Given the description of an element on the screen output the (x, y) to click on. 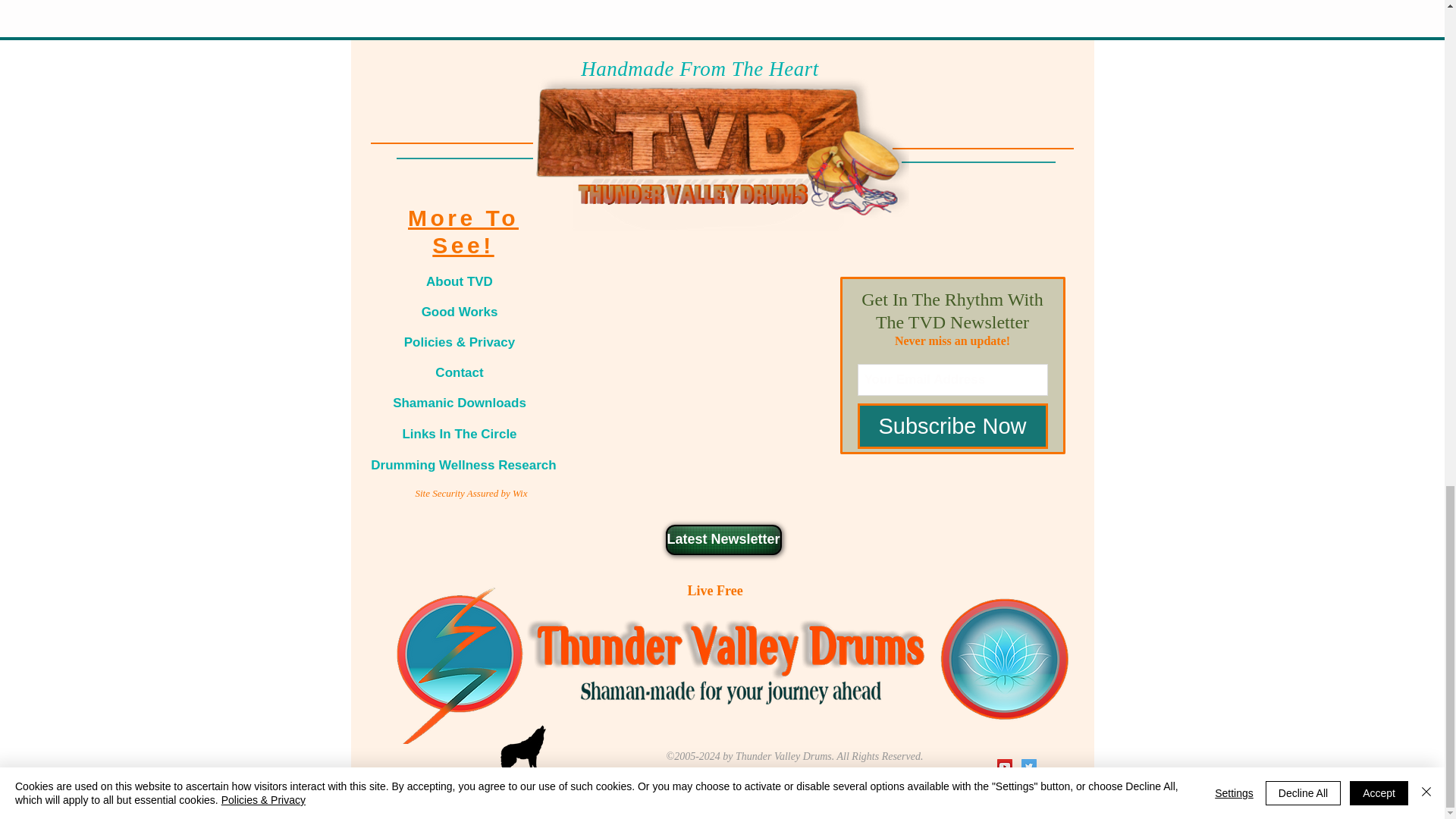
quality speaks with each drum beat (723, 656)
join your voice with a thunder valley drum (544, 748)
drums handmade with love (721, 148)
